Given the description of an element on the screen output the (x, y) to click on. 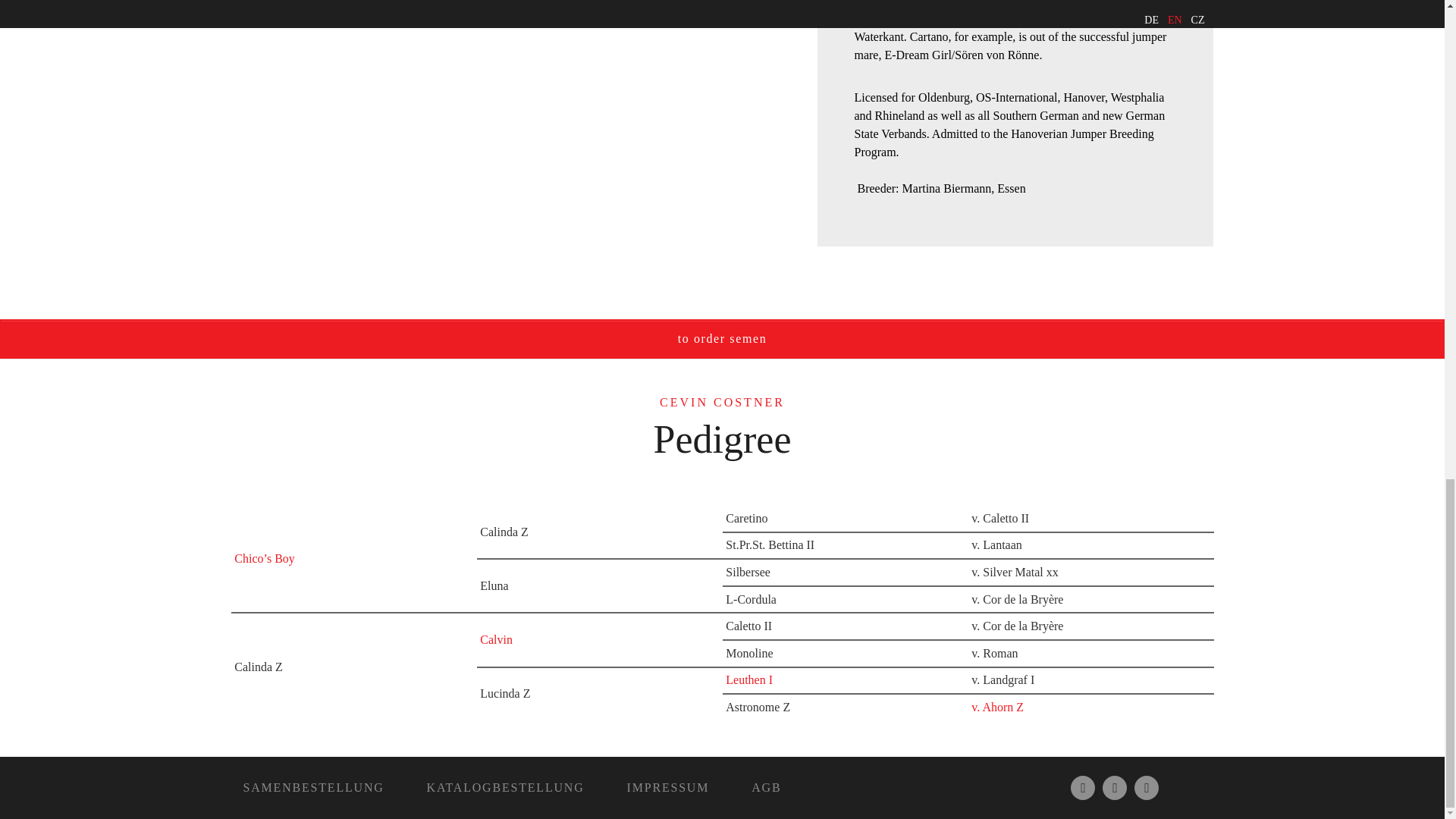
KATALOGBESTELLUNG (505, 787)
SAMENBESTELLUNG (312, 787)
